Given the description of an element on the screen output the (x, y) to click on. 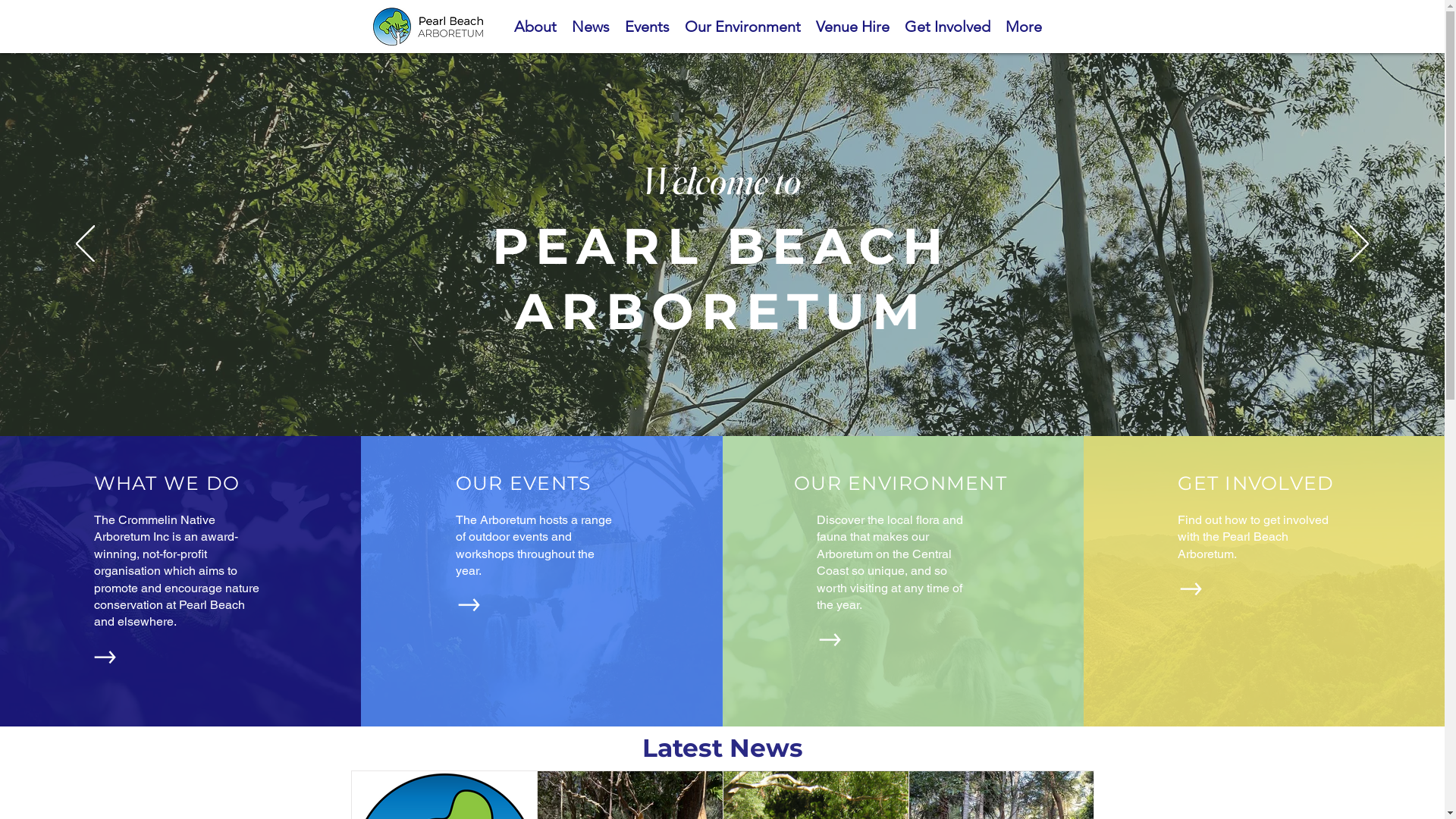
News Element type: text (590, 26)
WHAT WE DO Element type: text (167, 482)
Get Involved Element type: text (946, 26)
GET INVOLVED Element type: text (1255, 482)
Events Element type: text (647, 26)
Line Icon BLUE.png Element type: hover (431, 26)
Our Environment Element type: text (741, 26)
Venue Hire Element type: text (852, 26)
OUR ENVIRONMENT Element type: text (900, 482)
About Element type: text (535, 26)
OUR EVENTS Element type: text (523, 482)
